Given the description of an element on the screen output the (x, y) to click on. 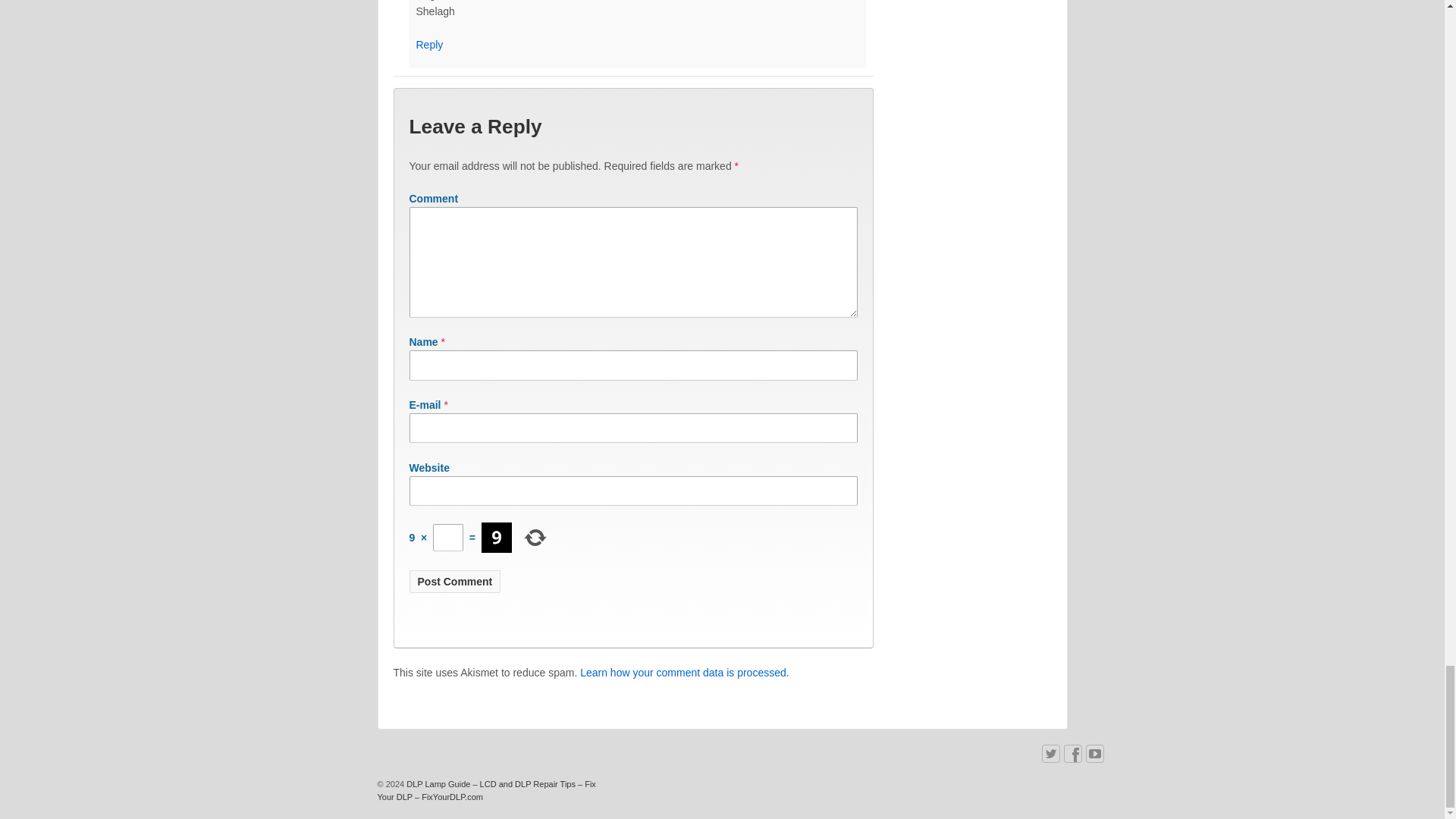
Post Comment (454, 581)
